Given the description of an element on the screen output the (x, y) to click on. 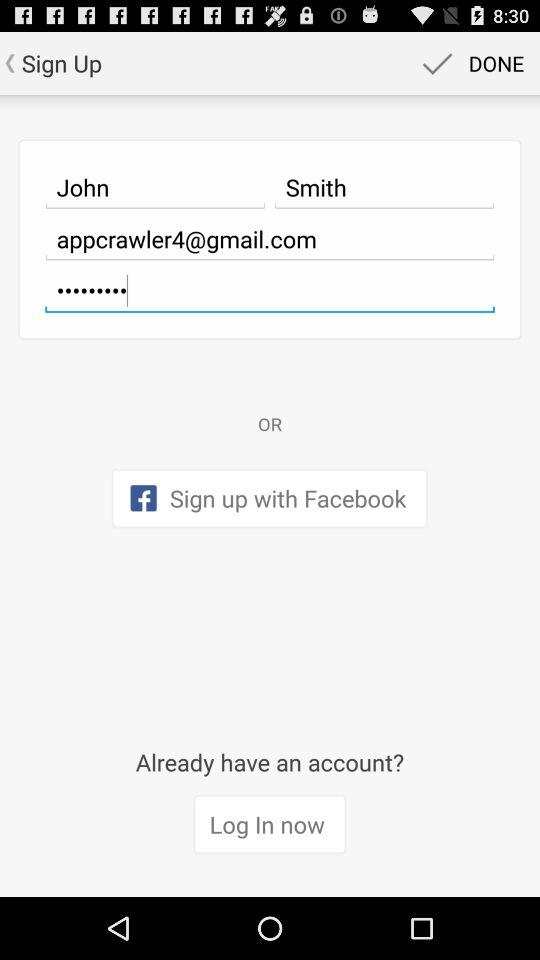
press icon next to sign up icon (470, 62)
